Given the description of an element on the screen output the (x, y) to click on. 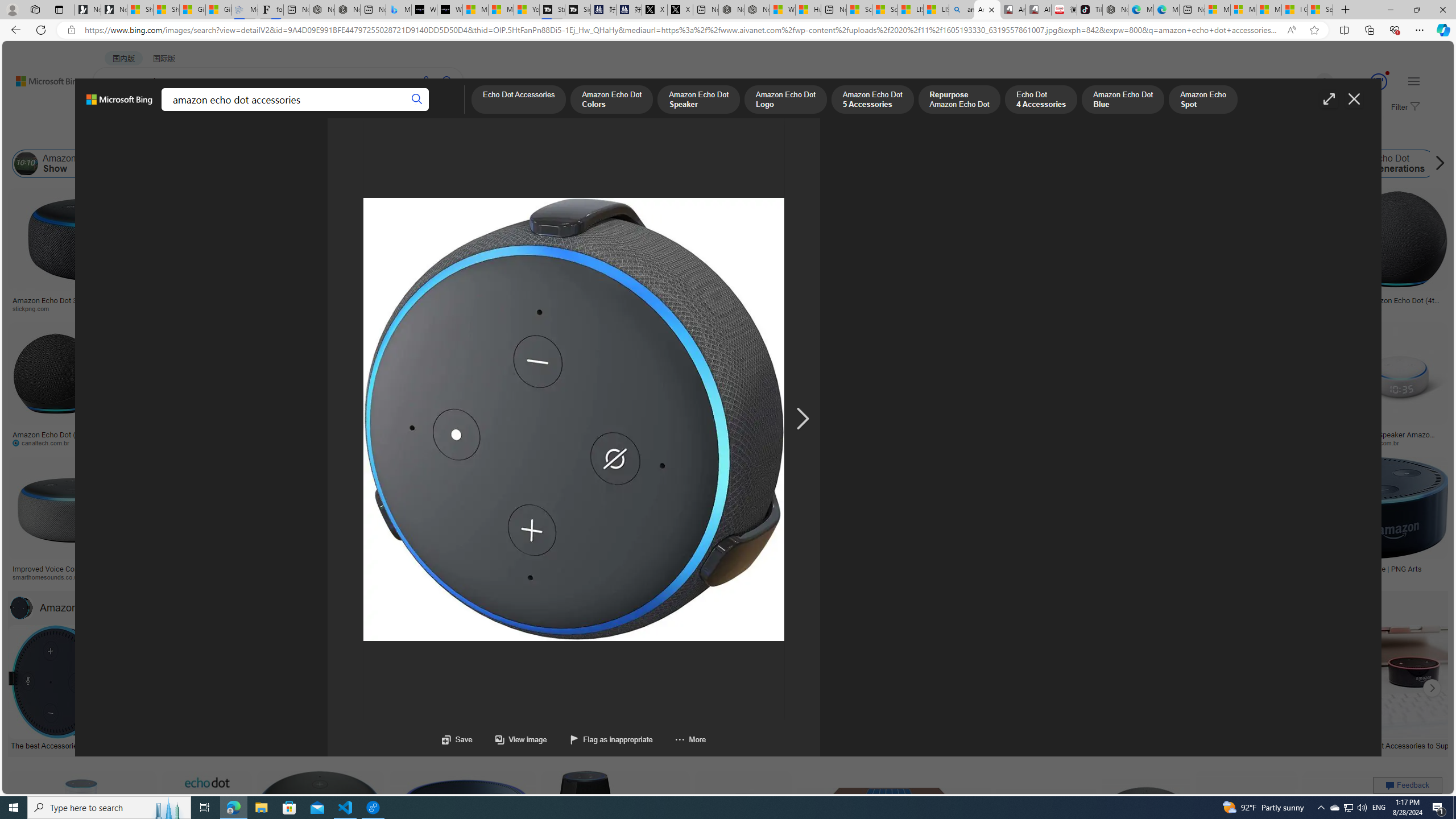
mediamarkt.es (674, 576)
smarthomesounds.co.uk (73, 576)
Amazon Echo 2nd Generation (608, 163)
Amazon Echo Dot 3 (1235, 163)
Echo Dot 4 Accessories (1040, 100)
Echo Dot Accessories (226, 163)
